Given the description of an element on the screen output the (x, y) to click on. 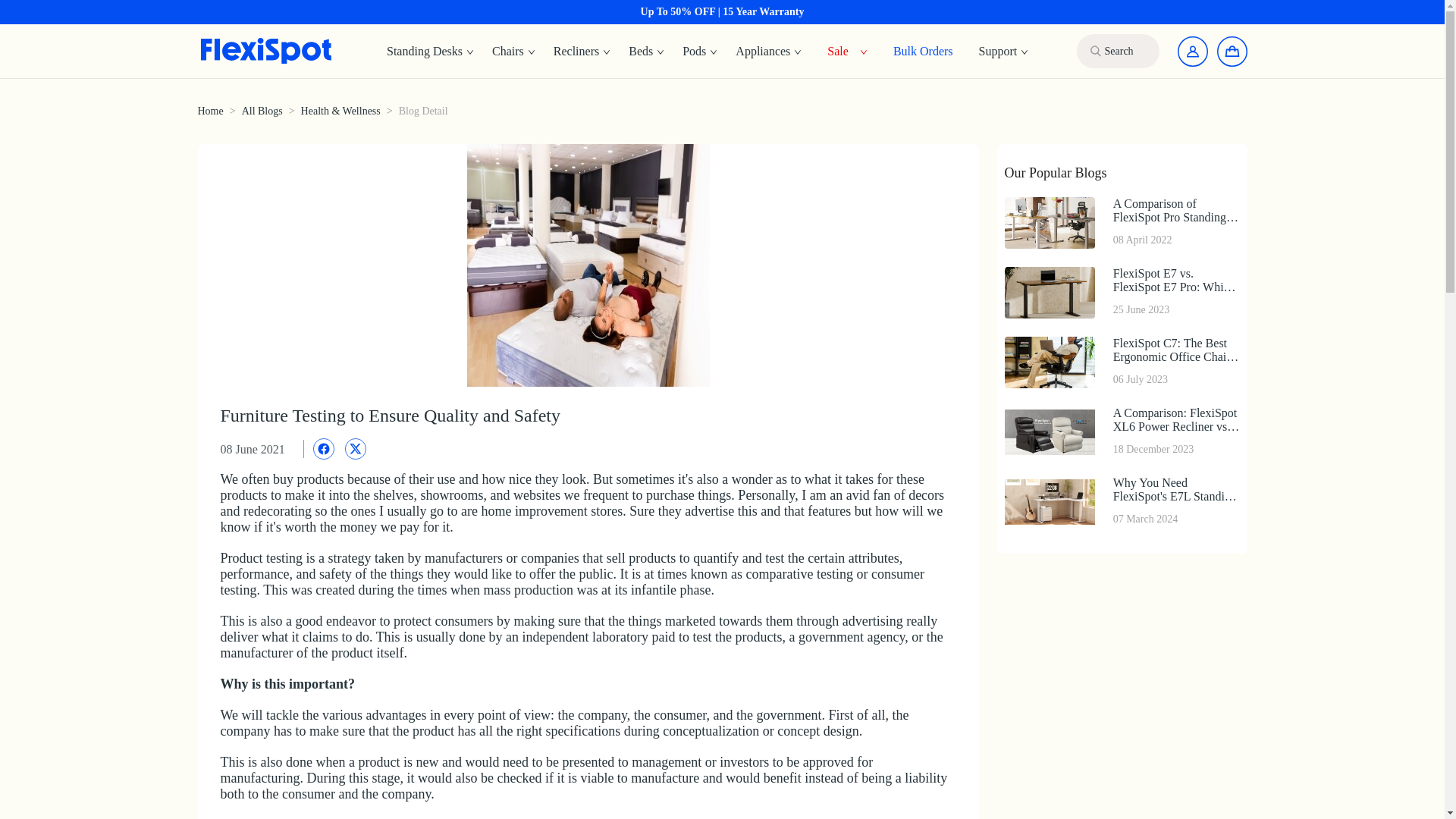
Chairs (513, 51)
Sale (837, 50)
Bulk Orders (922, 50)
Appliances (1121, 501)
Standing Desks (768, 51)
Beds (429, 51)
Pods (646, 51)
Recliners (700, 51)
Home (581, 51)
All Blogs (209, 111)
